Given the description of an element on the screen output the (x, y) to click on. 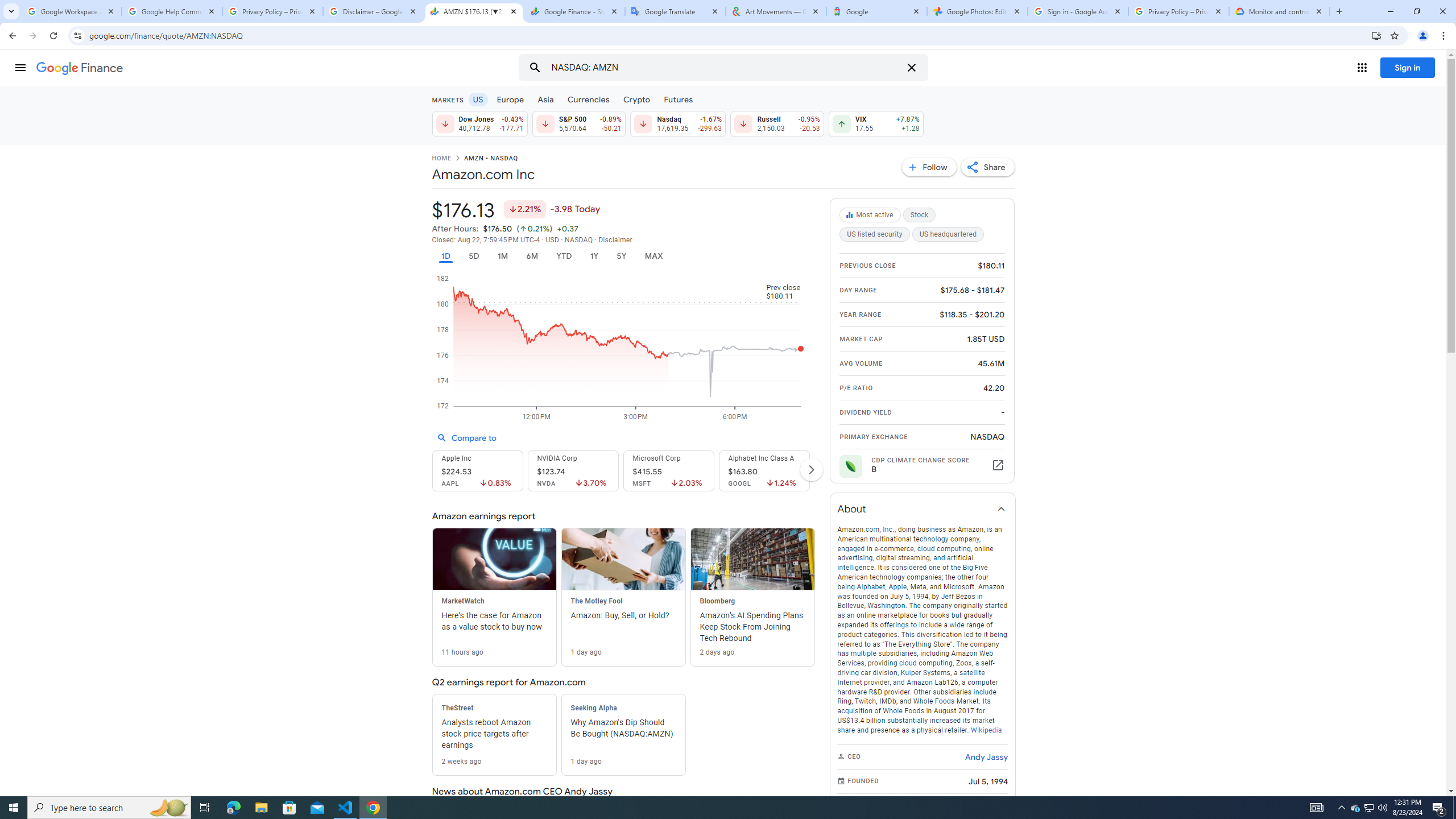
Follow (929, 167)
US (477, 99)
Search for stocks, ETFs & more (724, 67)
Most active (871, 214)
Google (876, 11)
Google Workspace Admin Community (71, 11)
6M (531, 255)
MAX (653, 255)
Share (987, 167)
